Given the description of an element on the screen output the (x, y) to click on. 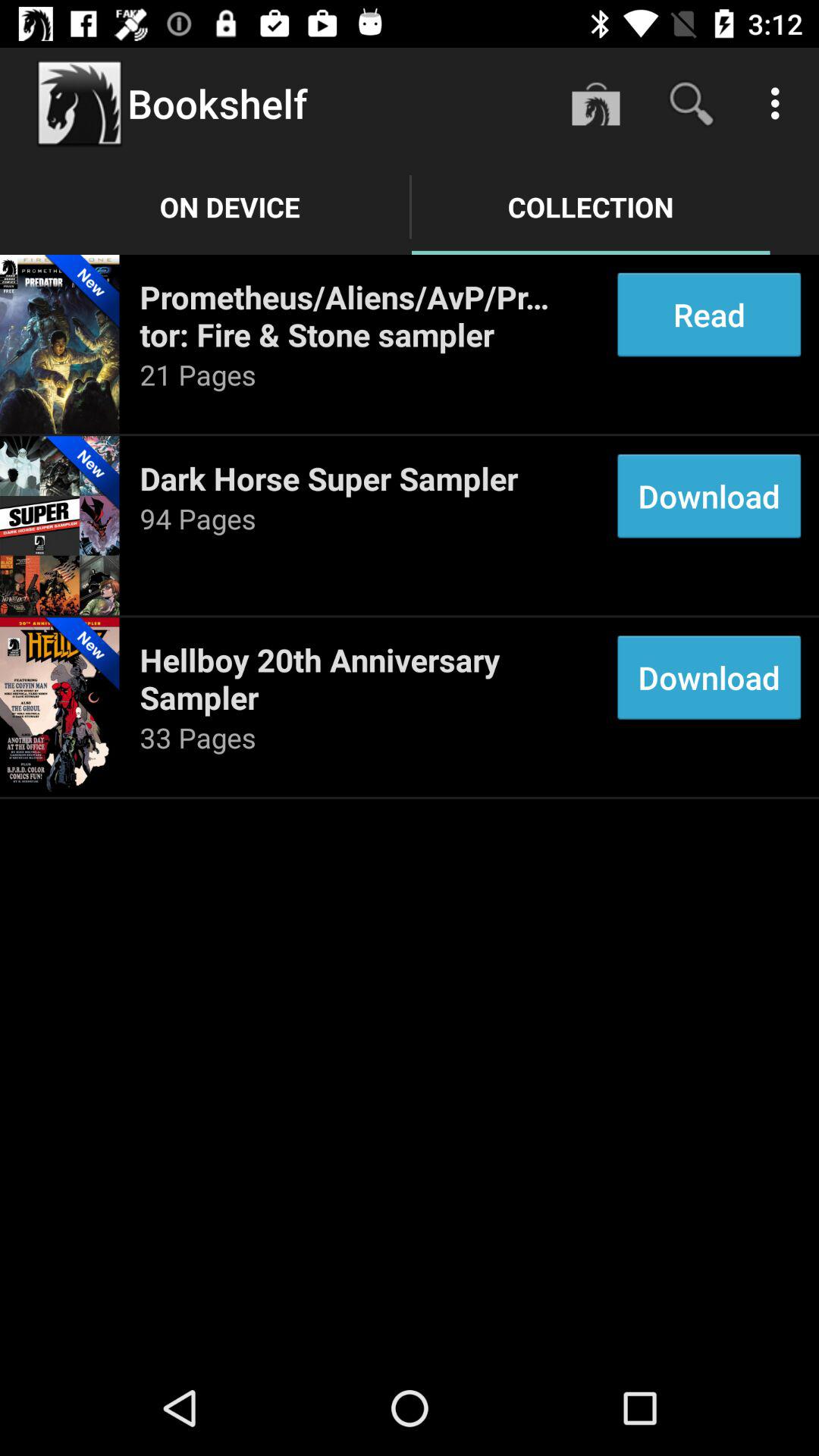
choose read (708, 314)
